Given the description of an element on the screen output the (x, y) to click on. 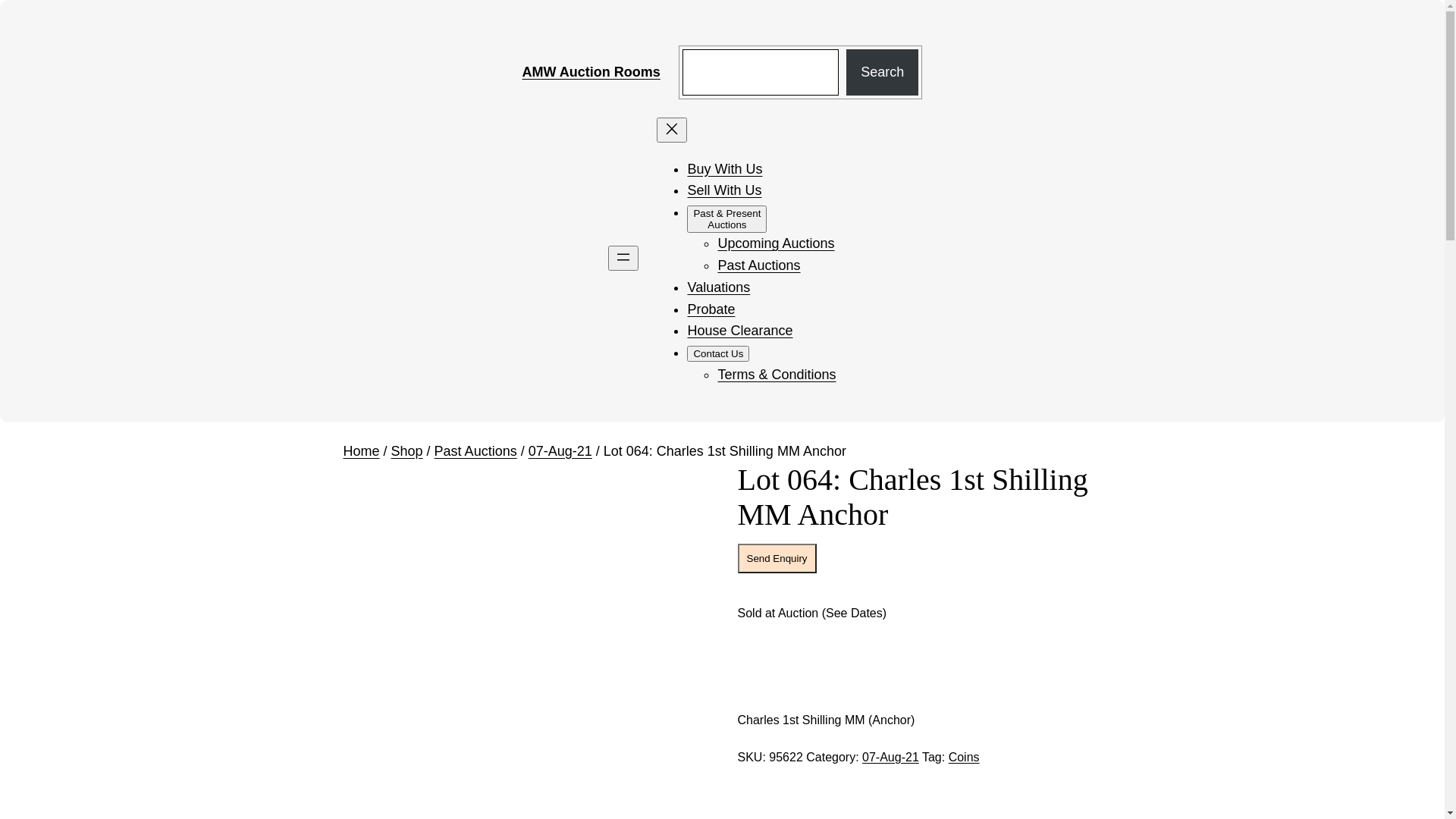
Valuations Element type: text (718, 286)
Contact Us Element type: text (718, 353)
Coins Element type: text (963, 756)
Home Element type: text (360, 450)
Past Auctions Element type: text (475, 450)
Sell With Us Element type: text (724, 189)
Past Auctions Element type: text (758, 265)
Upcoming Auctions Element type: text (775, 243)
Past & Present
Auctions Element type: text (726, 218)
07-Aug-21 Element type: text (890, 756)
Buy With Us Element type: text (724, 168)
House Clearance Element type: text (739, 330)
Probate Element type: text (710, 308)
Send Enquiry Element type: text (776, 558)
AMW Auction Rooms Element type: text (591, 71)
07-Aug-21 Element type: text (560, 450)
Shop Element type: text (407, 450)
Terms & Conditions Element type: text (776, 374)
Search Element type: text (882, 72)
